Given the description of an element on the screen output the (x, y) to click on. 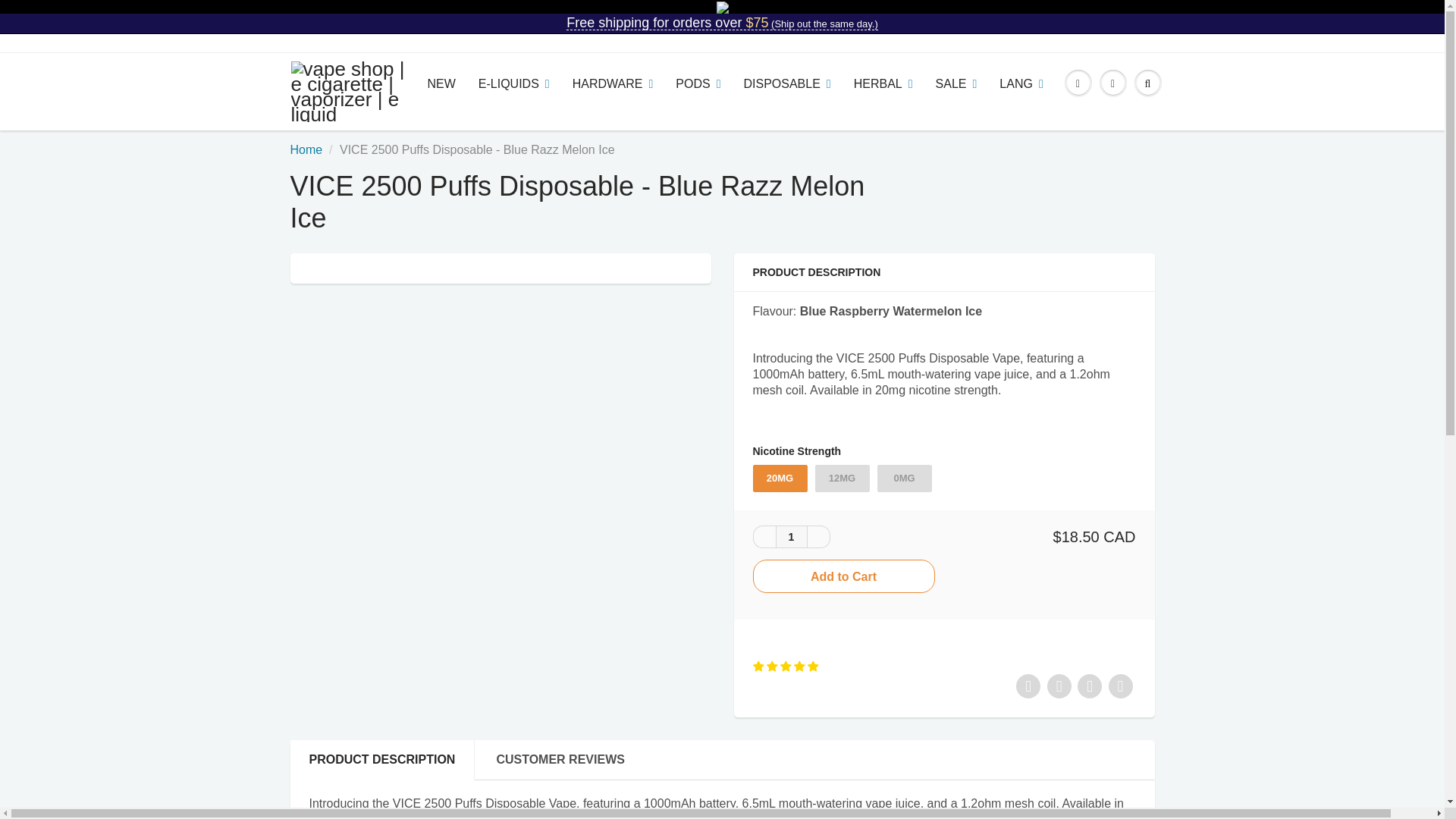
Add to Cart (843, 575)
E-LIQUIDS (513, 84)
1 (790, 536)
Home (305, 149)
